Given the description of an element on the screen output the (x, y) to click on. 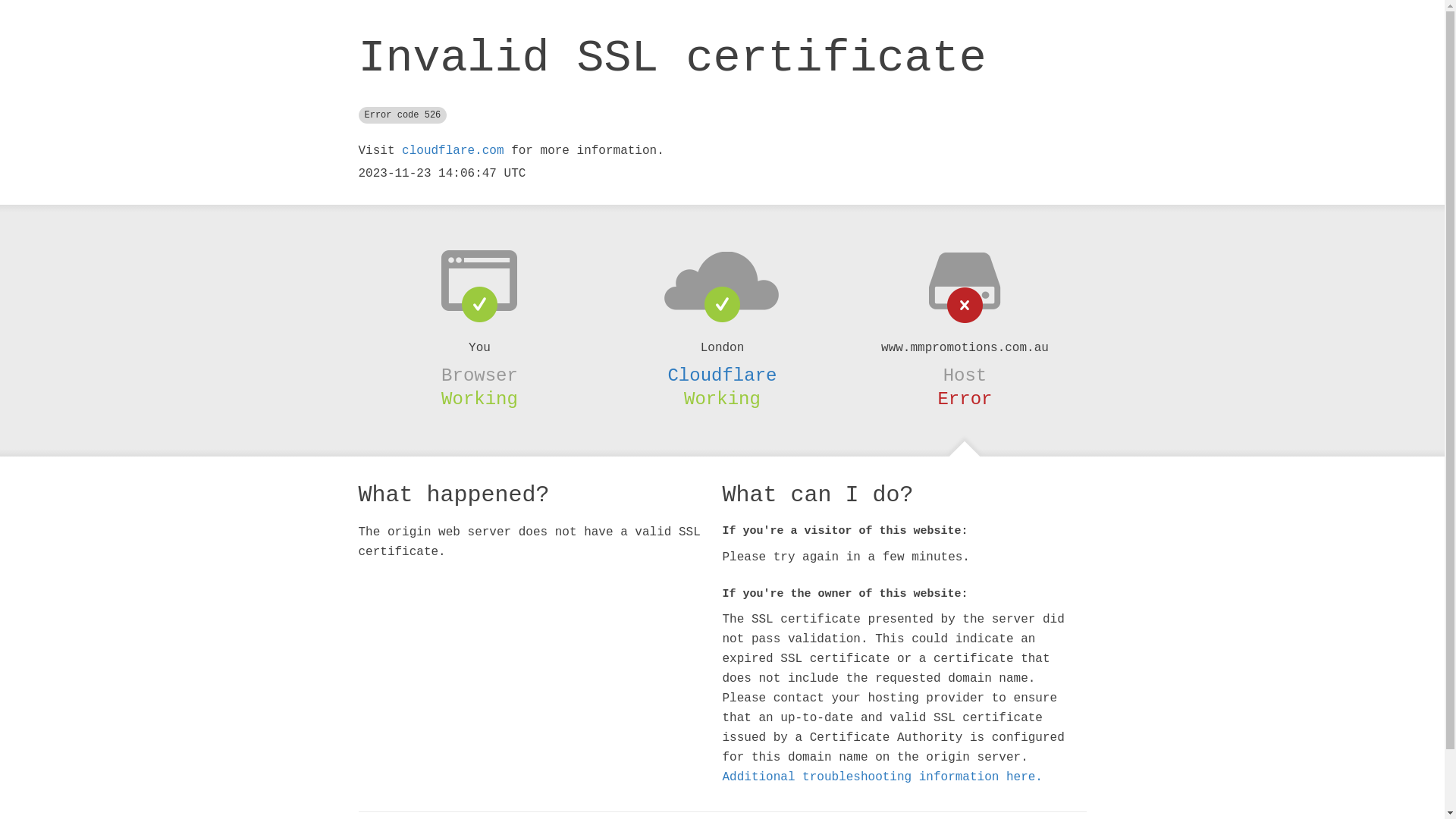
Cloudflare Element type: text (721, 375)
Additional troubleshooting information here. Element type: text (881, 777)
cloudflare.com Element type: text (452, 150)
